Given the description of an element on the screen output the (x, y) to click on. 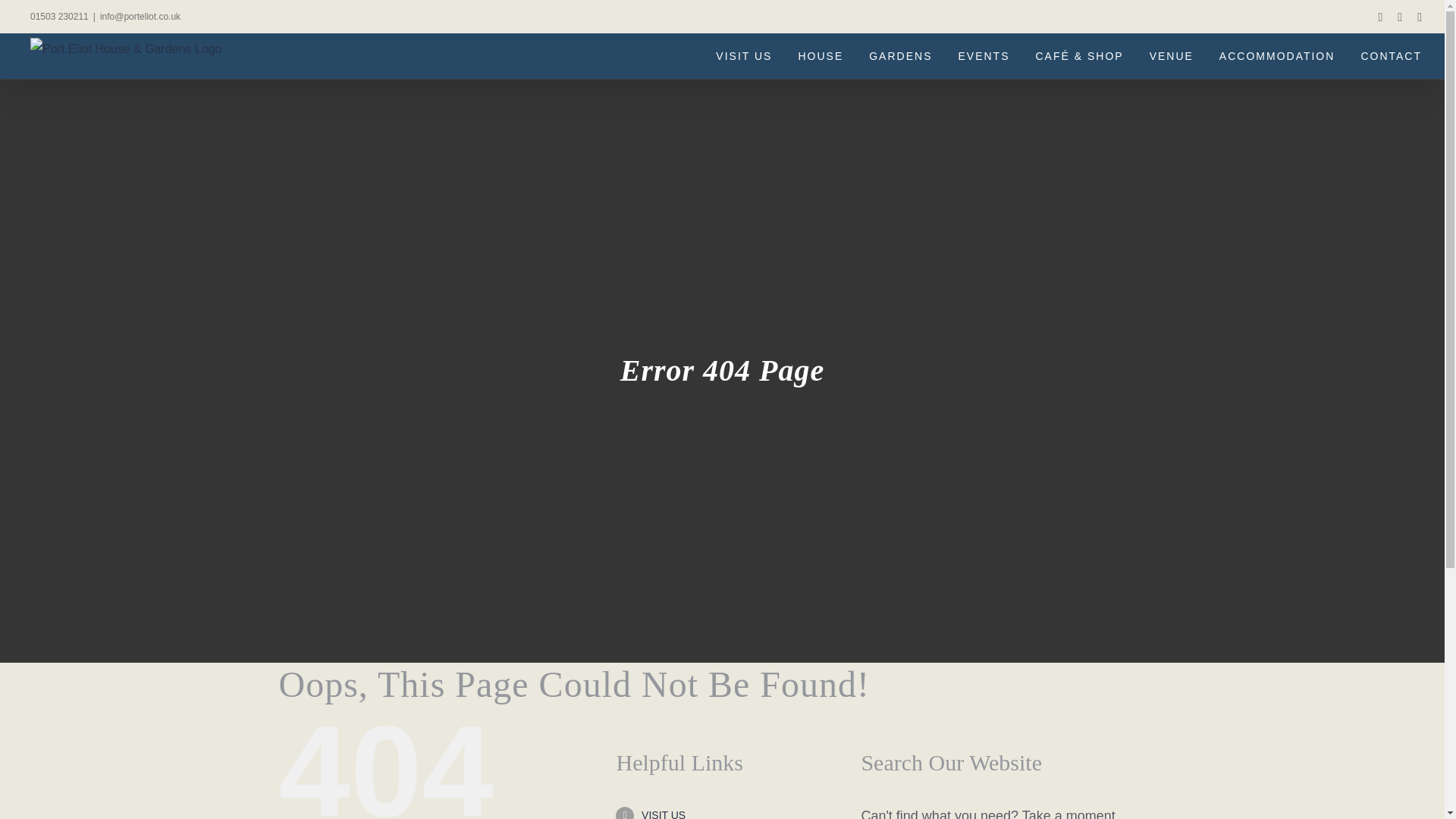
CONTACT (1390, 55)
VENUE (1171, 55)
VISIT US (663, 814)
HOUSE (820, 55)
VISIT US (743, 55)
EVENTS (983, 55)
ACCOMMODATION (1277, 55)
GARDENS (900, 55)
